Given the description of an element on the screen output the (x, y) to click on. 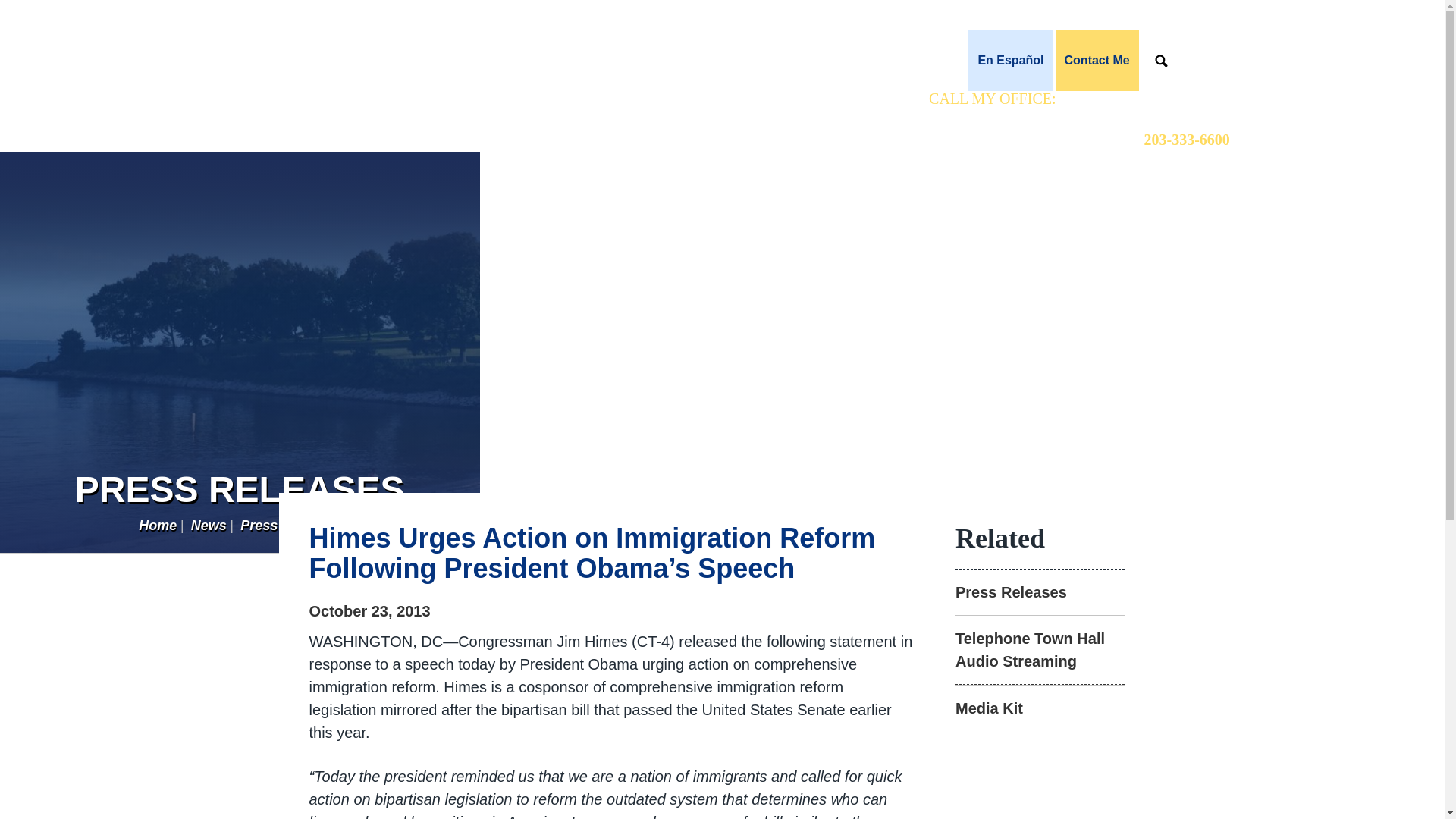
Helping You (812, 60)
Issues (886, 60)
CONGRESSMAN JIM HIMES (251, 57)
